Given the description of an element on the screen output the (x, y) to click on. 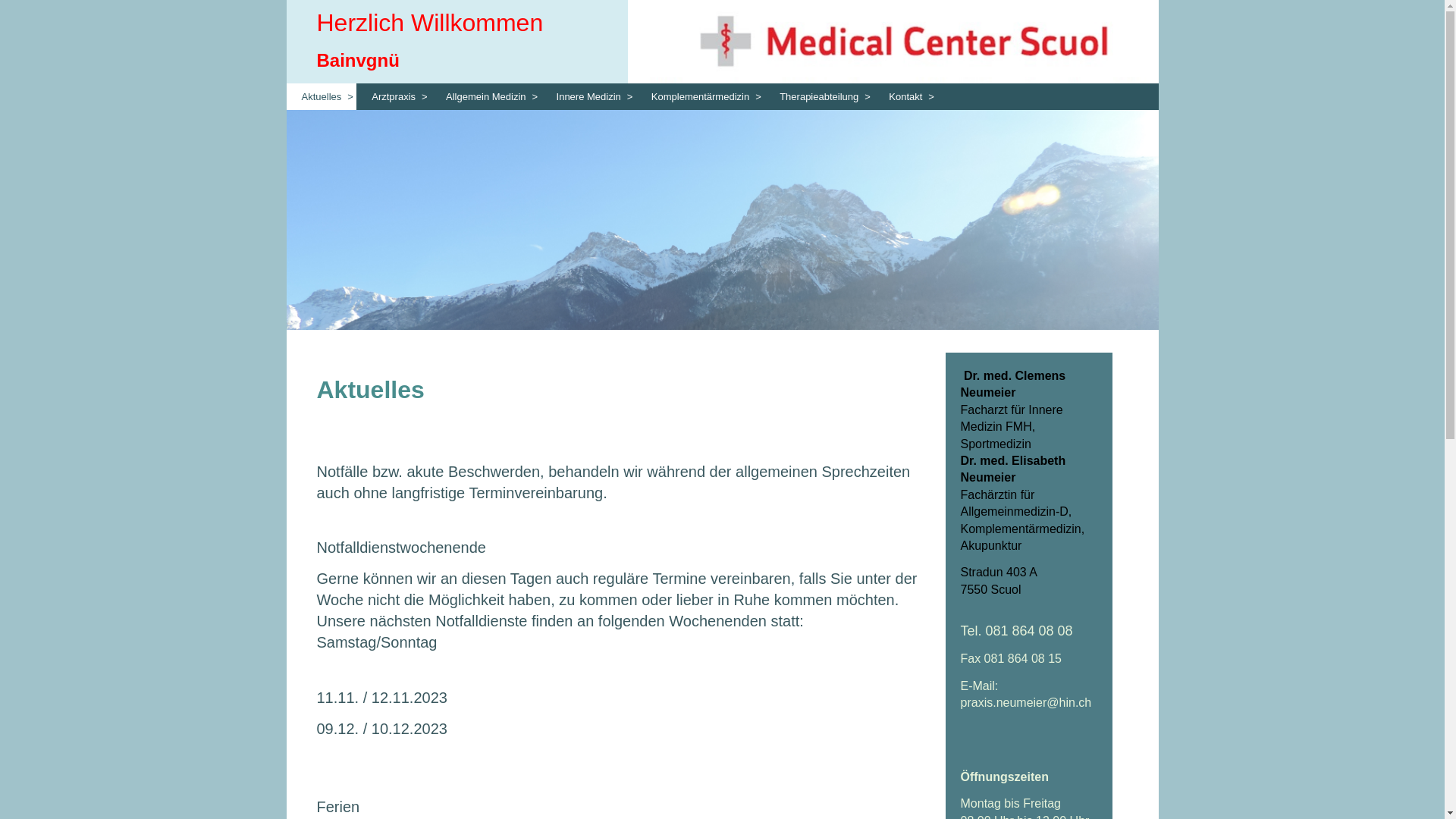
Arztpraxis Element type: text (393, 96)
Kontakt Element type: text (905, 96)
Therapieabteilung Element type: text (818, 96)
Allgemein Medizin Element type: text (485, 96)
Innere Medizin Element type: text (588, 96)
Aktuelles Element type: text (321, 96)
